Given the description of an element on the screen output the (x, y) to click on. 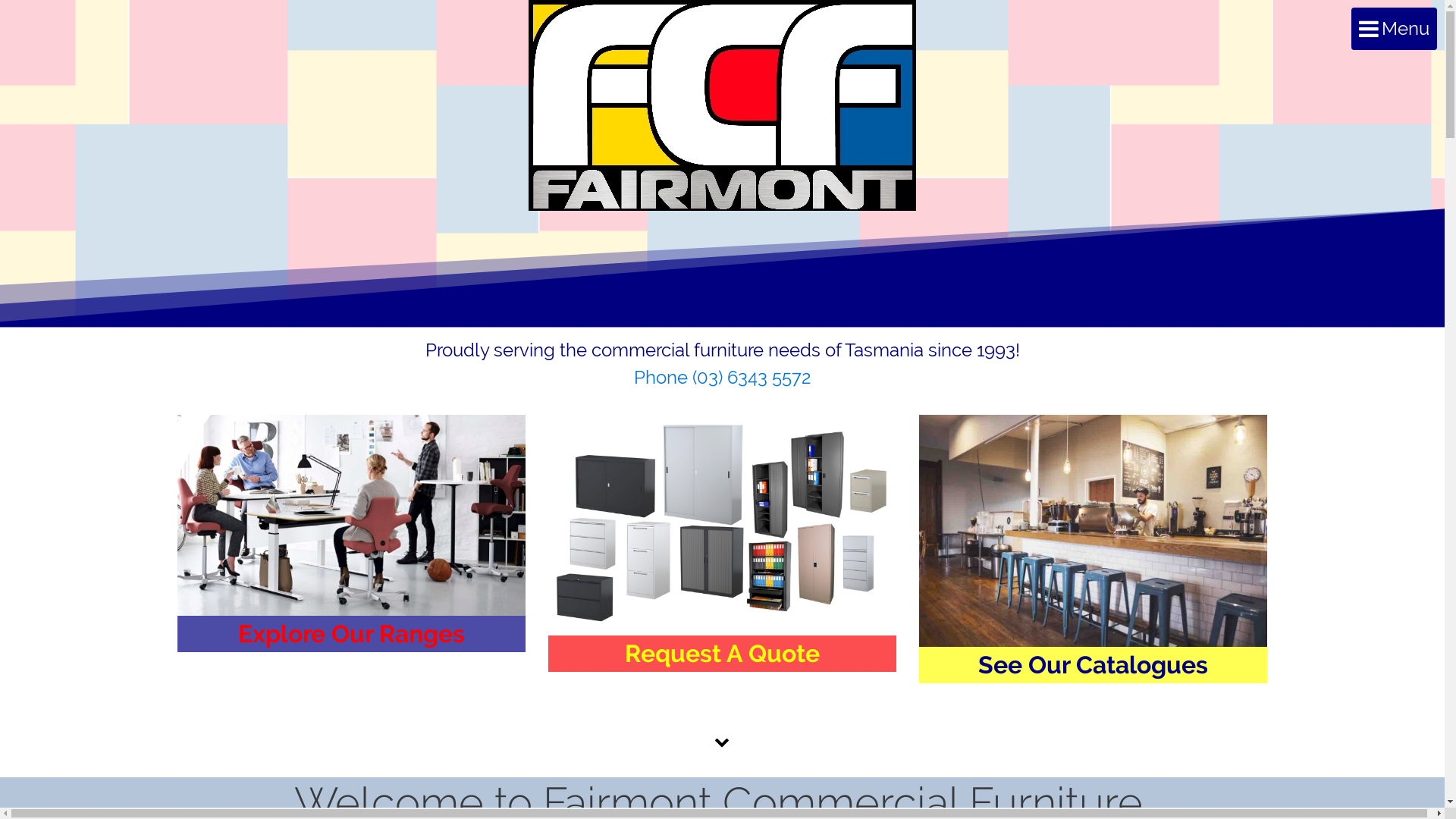
See Our Catalogues Element type: text (1093, 548)
Request A Quote Element type: text (722, 542)
Phone (03) 6343 5572 Element type: text (722, 377)
Explore Our Ranges Element type: text (351, 533)
